Given the description of an element on the screen output the (x, y) to click on. 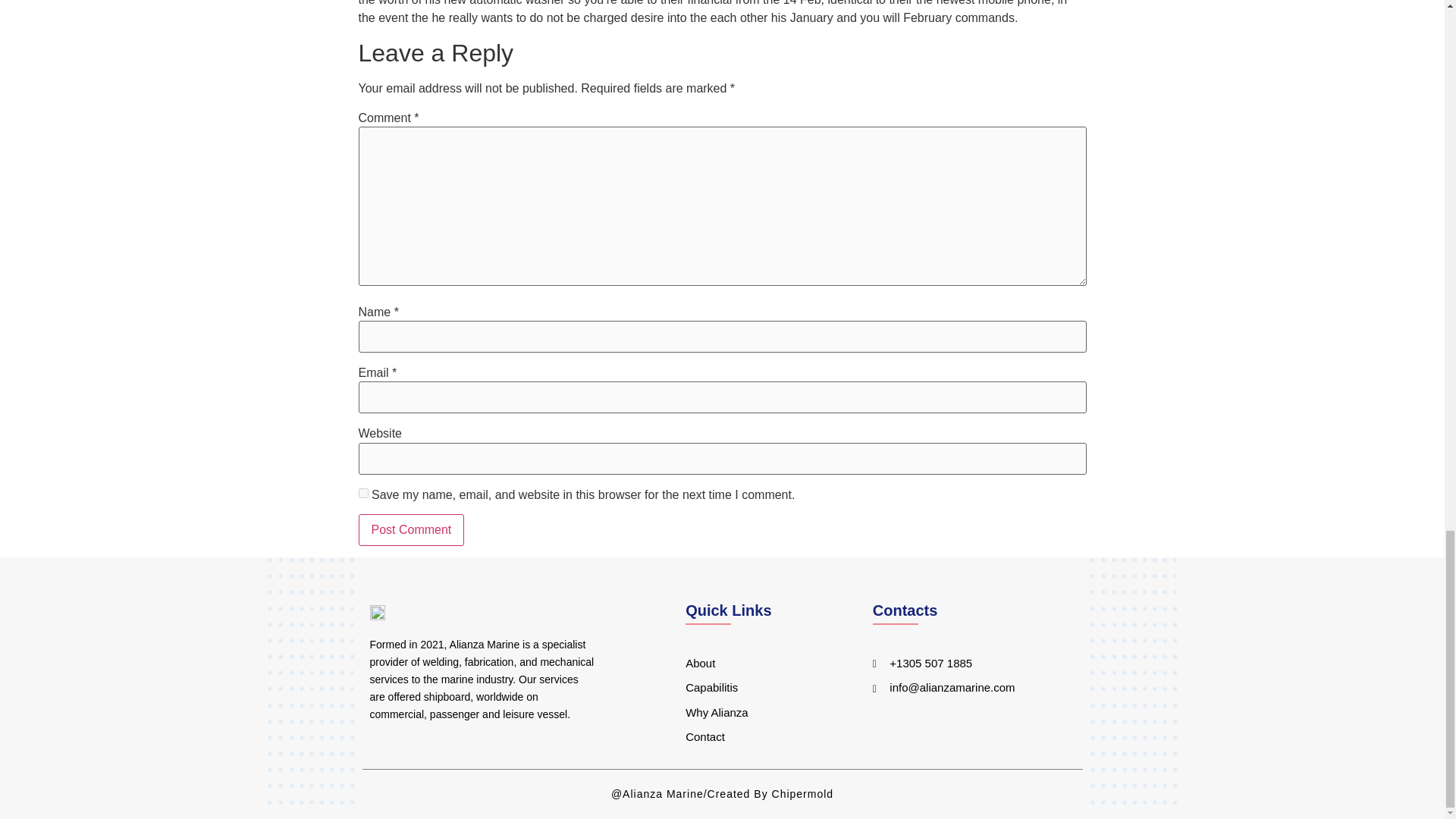
Post Comment (411, 530)
Capabilitis (759, 687)
Post Comment (411, 530)
Why Alianza (759, 712)
Contact (759, 737)
yes (363, 492)
About (759, 663)
